Given the description of an element on the screen output the (x, y) to click on. 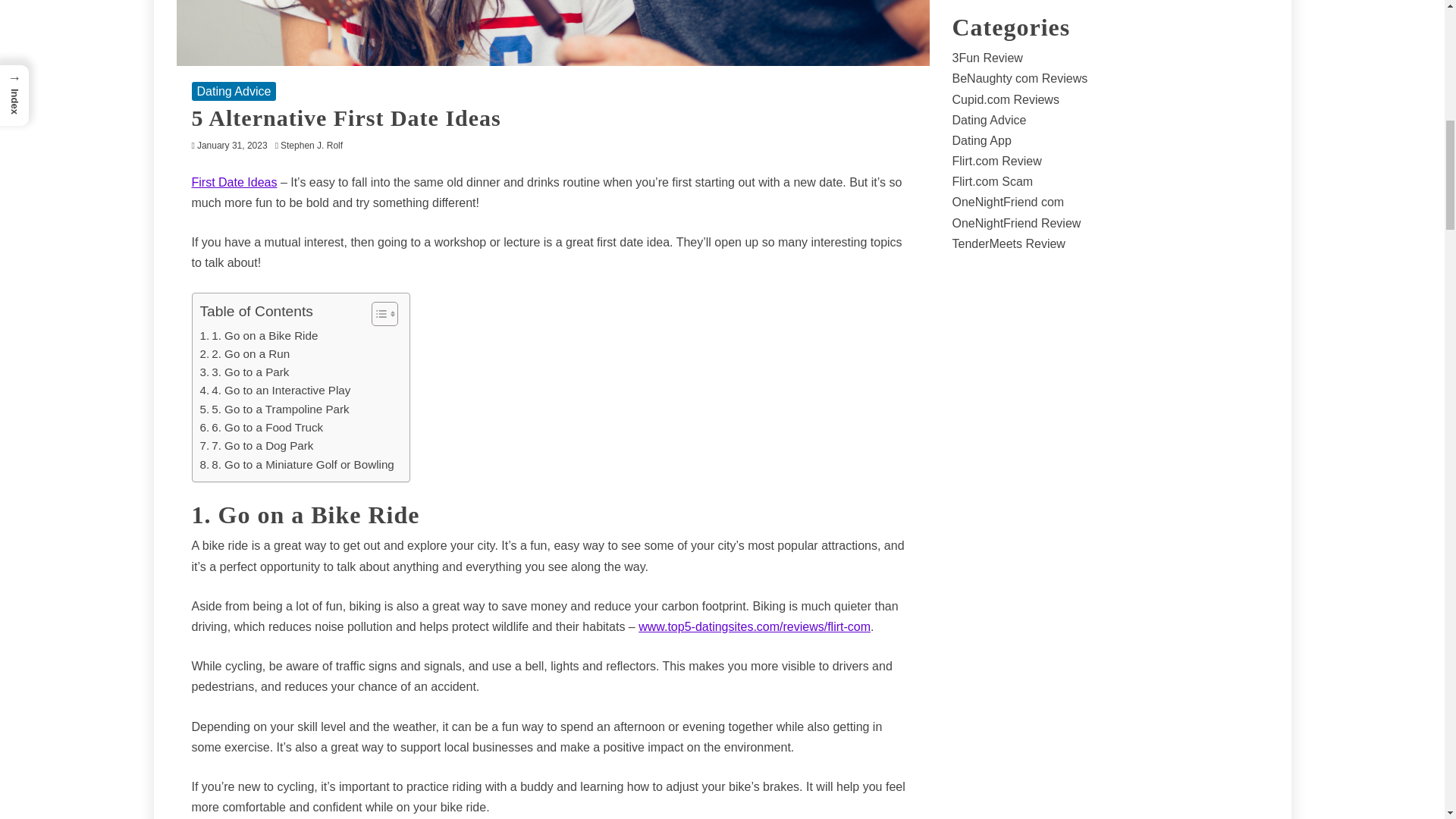
6. Go to a Food Truck (261, 427)
5. Go to a Trampoline Park (274, 409)
1. Go on a Bike Ride (259, 335)
6. Go to a Food Truck (261, 427)
Stephen J. Rolf (315, 145)
January 31, 2023 (231, 145)
7. Go to a Dog Park (257, 445)
8. Go to a Miniature Golf or Bowling (297, 464)
Dating Advice (233, 90)
7. Go to a Dog Park (257, 445)
4. Go to an Interactive Play (275, 390)
2. Go on a Run (244, 353)
4. Go to an Interactive Play (275, 390)
1. Go on a Bike Ride (259, 335)
First Date Ideas (233, 182)
